Given the description of an element on the screen output the (x, y) to click on. 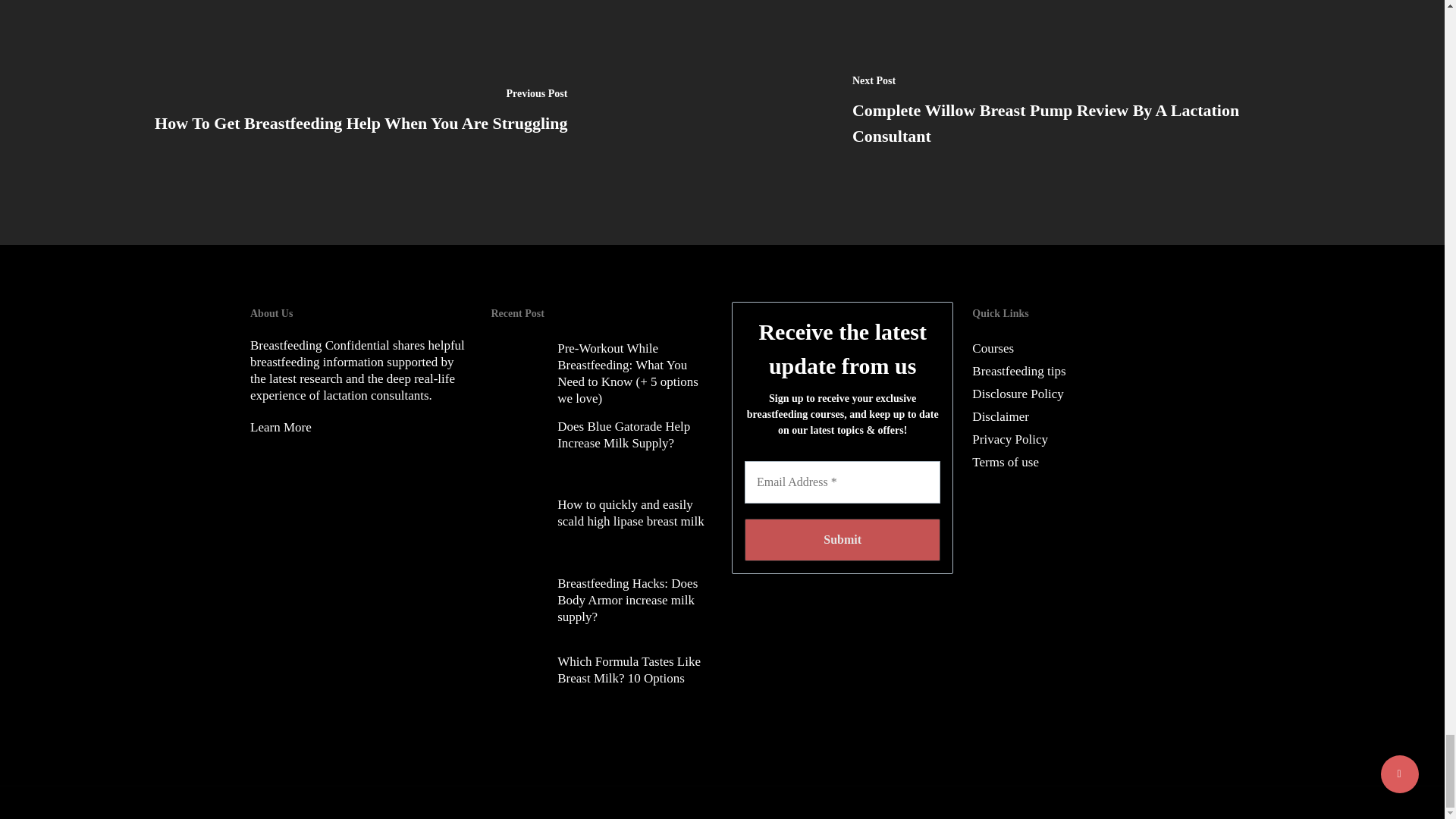
Submit (842, 539)
